Given the description of an element on the screen output the (x, y) to click on. 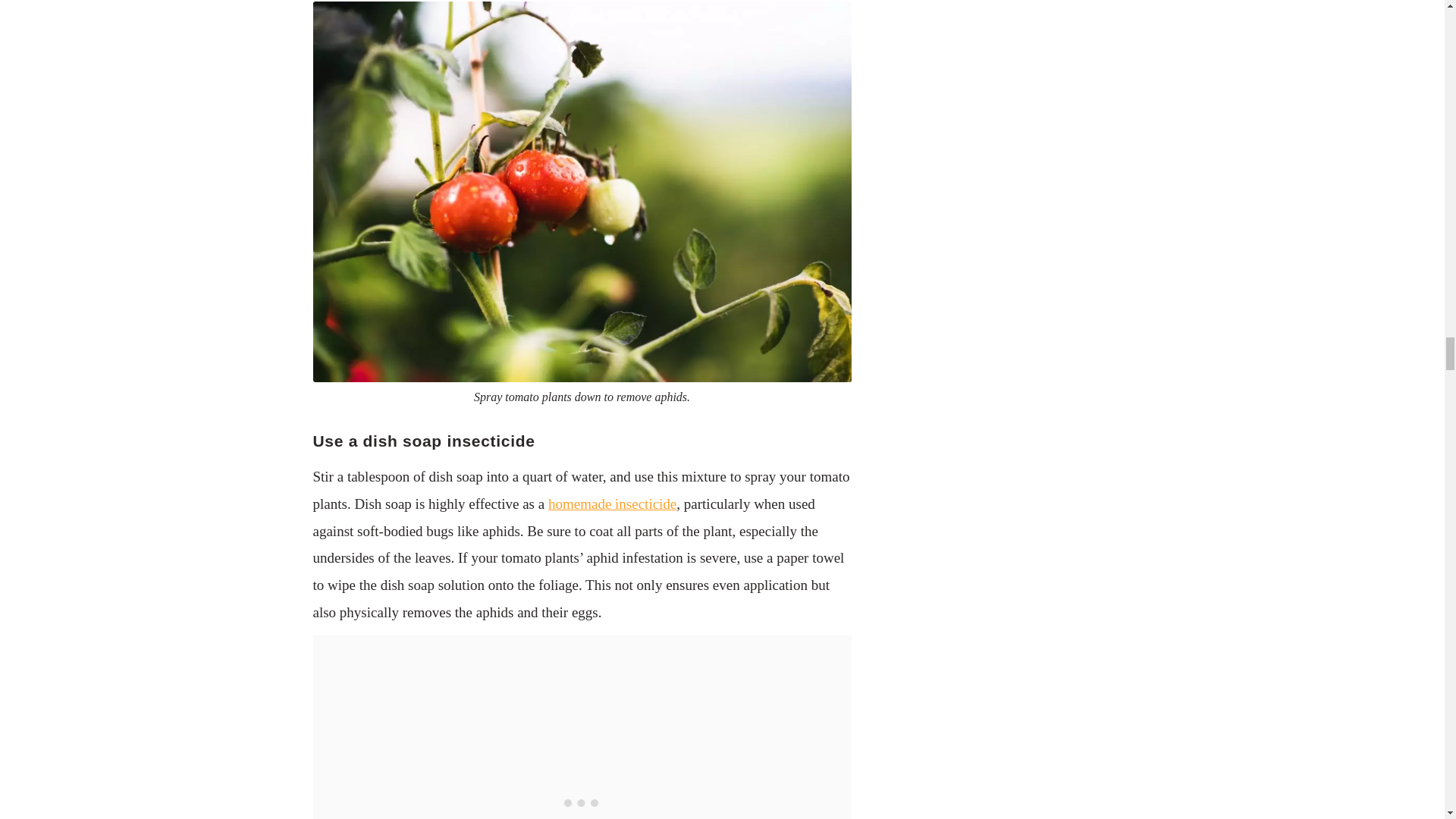
homemade insecticide (612, 503)
